Given the description of an element on the screen output the (x, y) to click on. 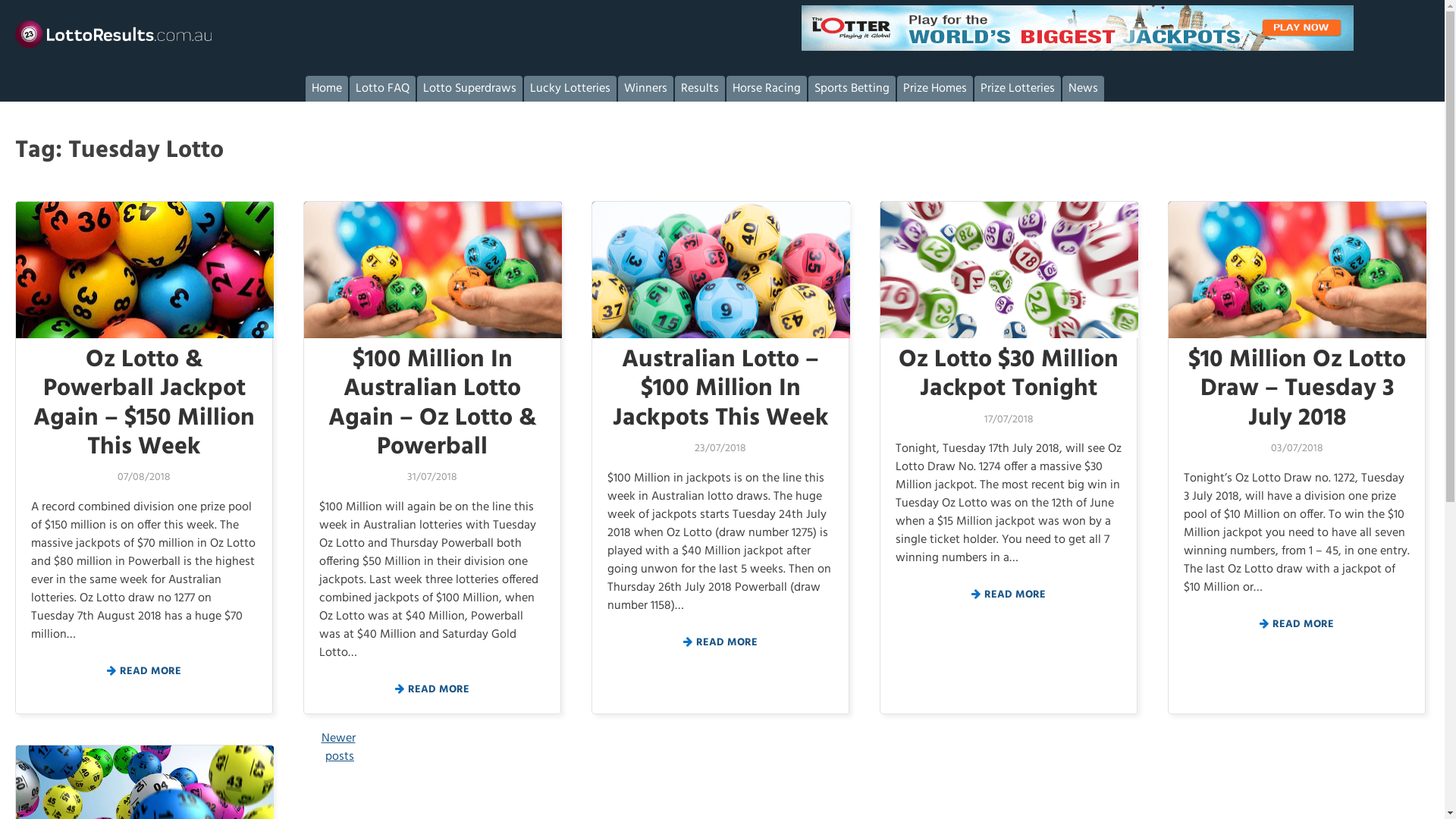
Newer posts Element type: text (338, 747)
Winners Element type: text (644, 88)
READ MORE Element type: text (143, 671)
Lucky Lotteries Element type: text (569, 88)
READ MORE Element type: text (1296, 624)
READ MORE Element type: text (1008, 594)
Sports Betting Element type: text (851, 88)
READ MORE Element type: text (720, 642)
Lotto Superdraws Element type: text (469, 88)
Results Element type: text (699, 88)
Prize Lotteries Element type: text (1016, 88)
Home Element type: text (325, 88)
READ MORE Element type: text (432, 689)
Oz Lotto $30 Million Jackpot Tonight Element type: text (1008, 373)
Horse Racing Element type: text (766, 88)
Prize Homes Element type: text (934, 88)
News Element type: text (1082, 88)
Lotto FAQ Element type: text (381, 88)
